Given the description of an element on the screen output the (x, y) to click on. 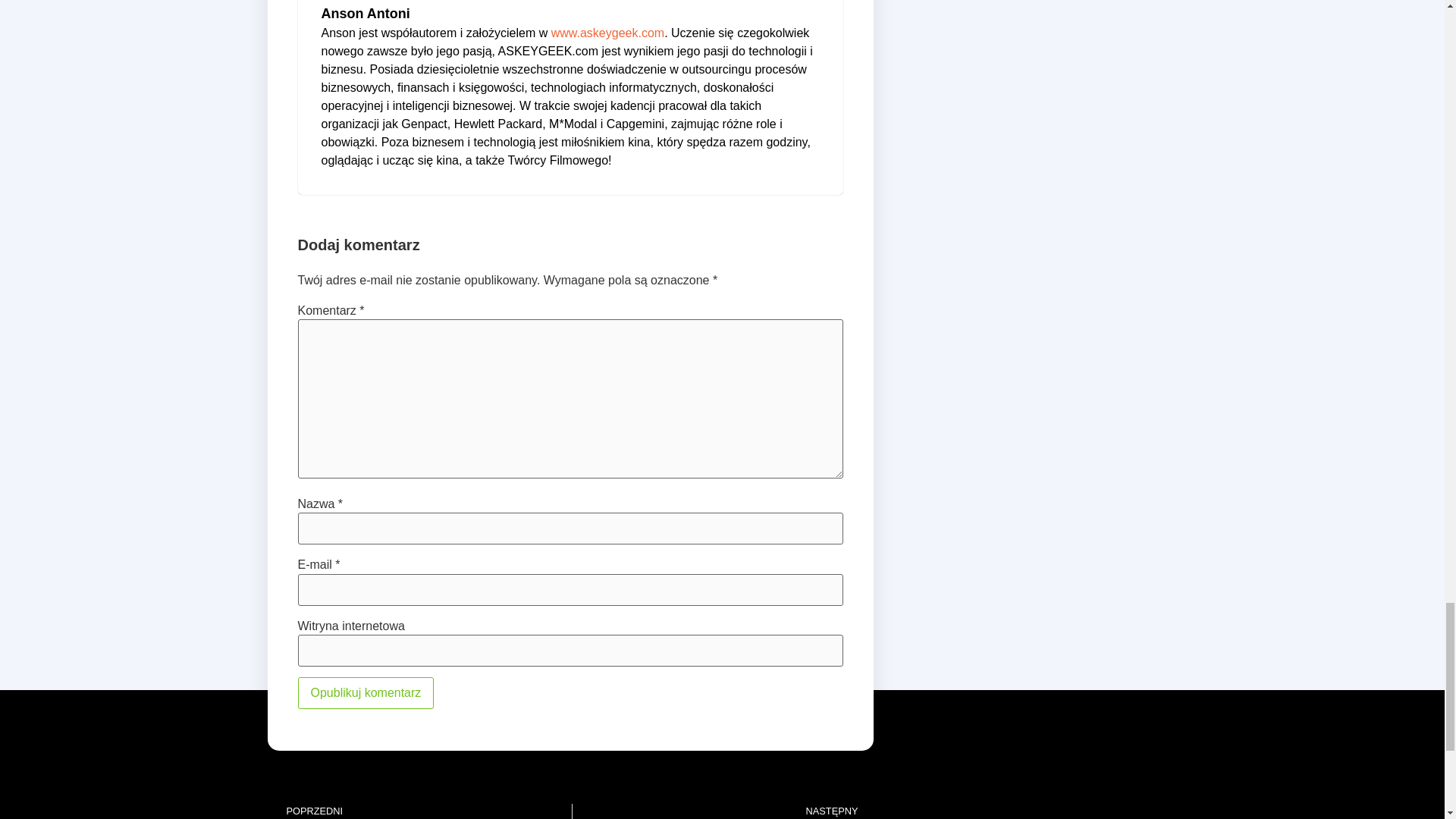
Opublikuj komentarz (365, 693)
